Given the description of an element on the screen output the (x, y) to click on. 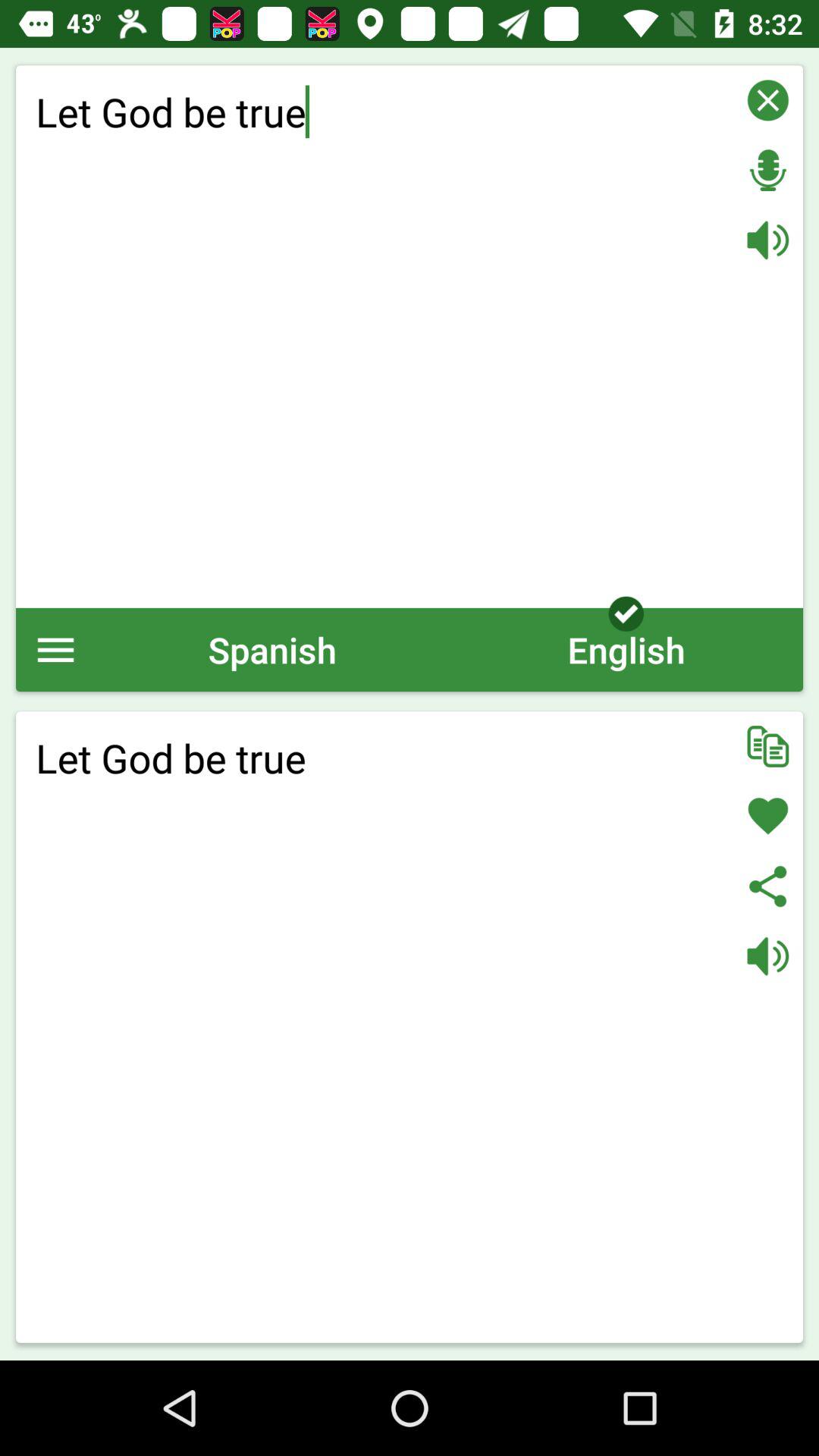
change volume (768, 240)
